Given the description of an element on the screen output the (x, y) to click on. 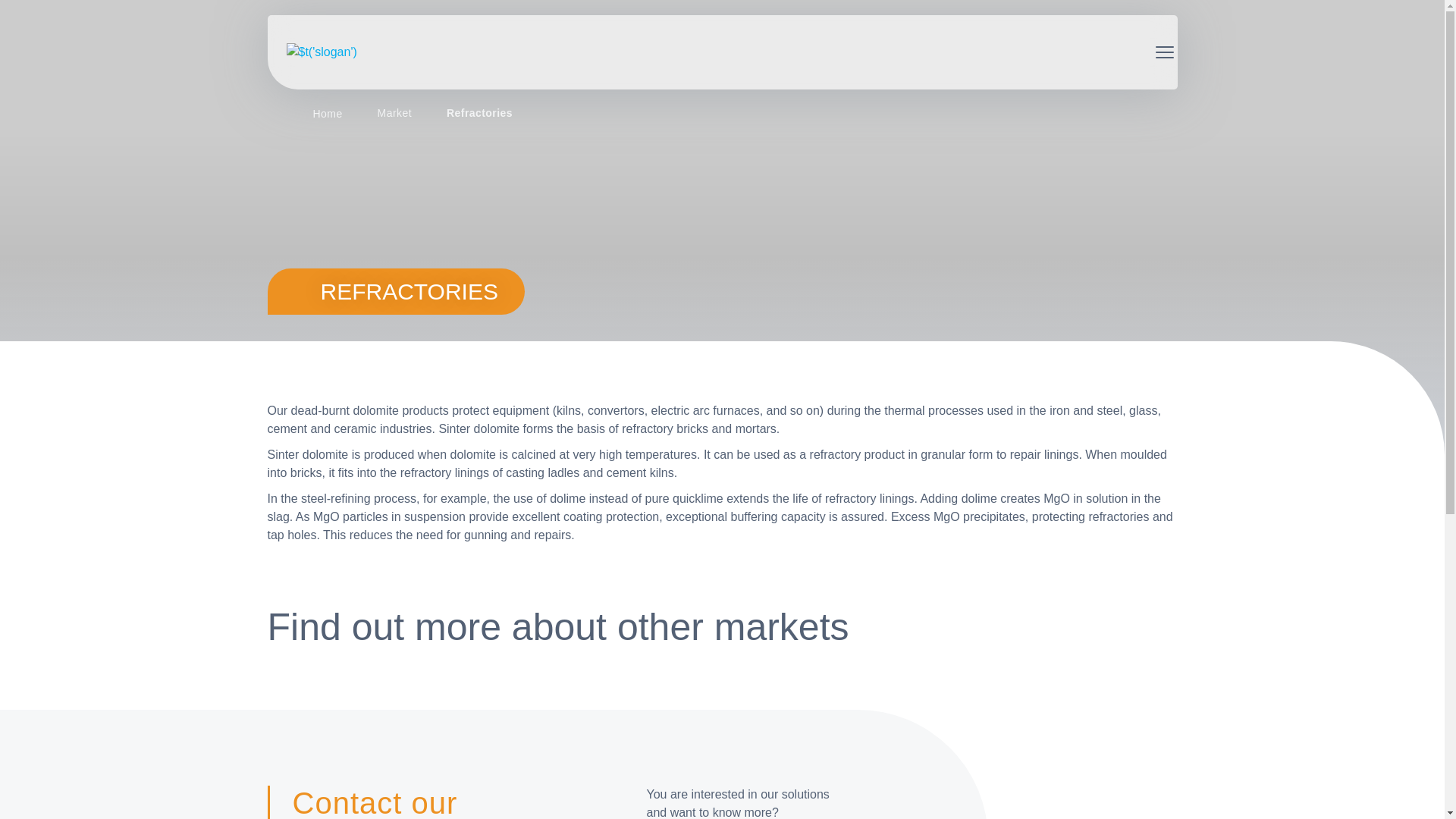
Refractories (479, 113)
Market (394, 113)
Home (327, 114)
